Given the description of an element on the screen output the (x, y) to click on. 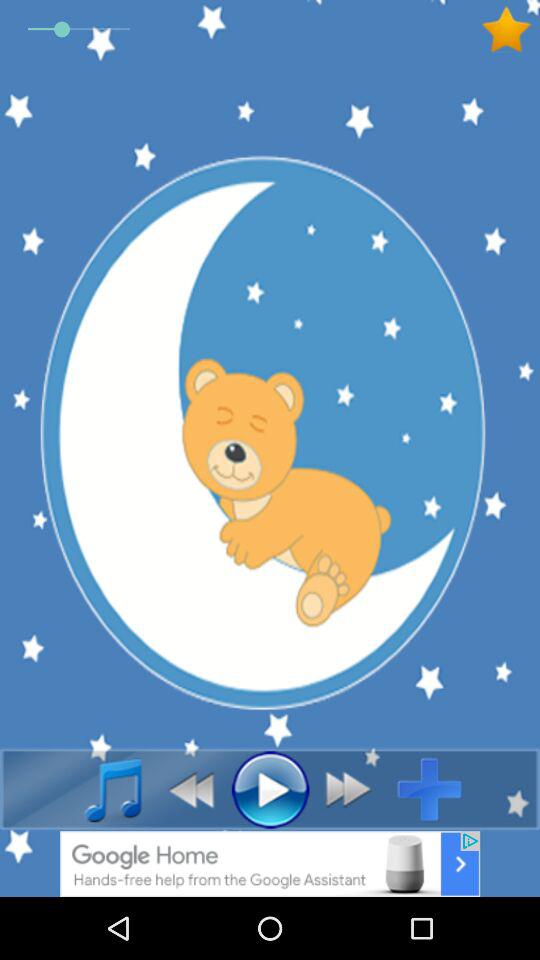
back (353, 789)
